Given the description of an element on the screen output the (x, y) to click on. 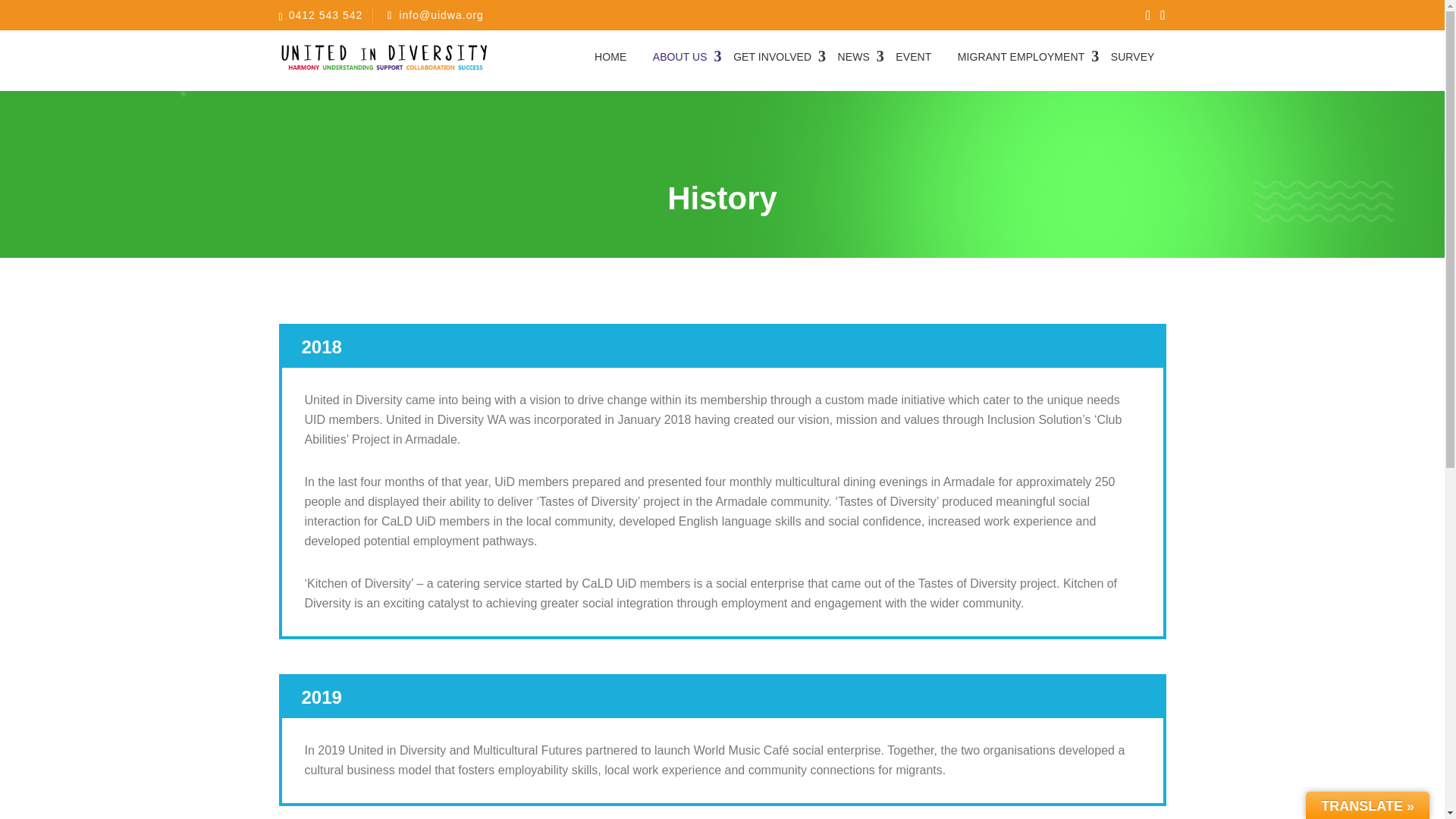
ABOUT US (680, 56)
GET INVOLVED (772, 56)
EVENT (912, 56)
SURVEY (1132, 56)
MIGRANT EMPLOYMENT (1021, 56)
HOME (610, 56)
NEWS (853, 56)
